Given the description of an element on the screen output the (x, y) to click on. 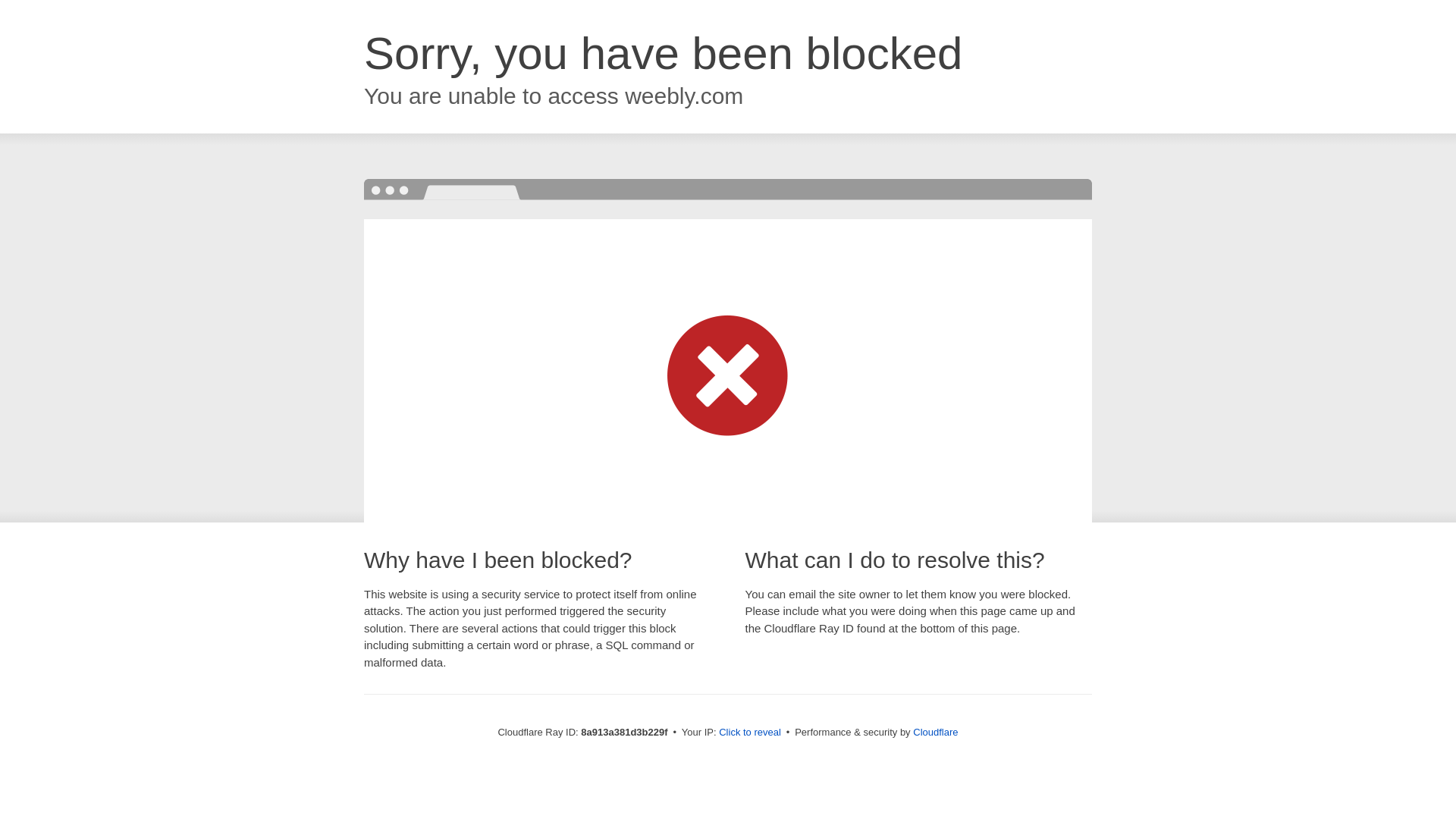
Cloudflare (935, 731)
Click to reveal (749, 732)
